Given the description of an element on the screen output the (x, y) to click on. 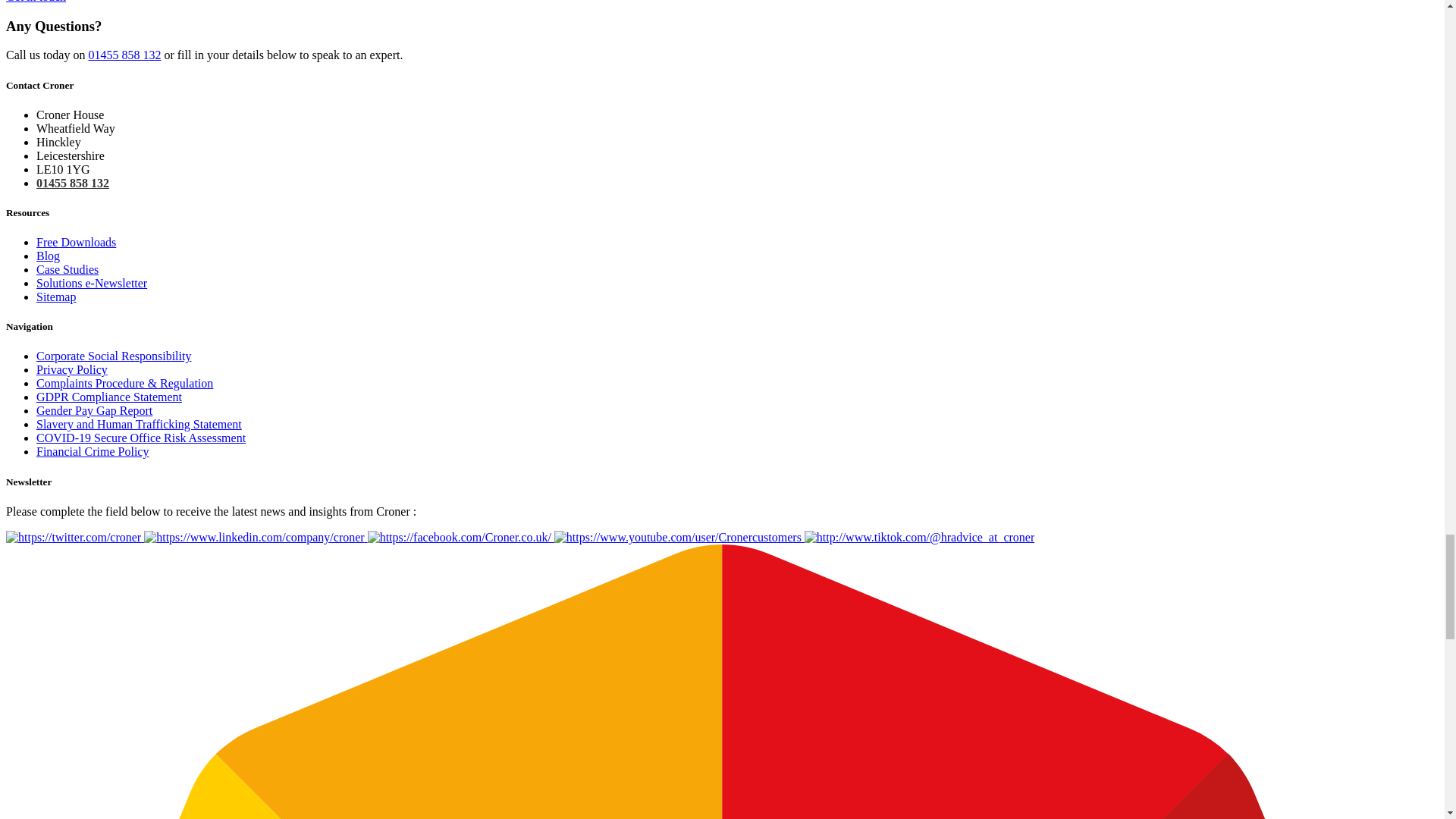
social icon  (679, 536)
social icon  (255, 536)
social icon  (461, 536)
social icon  (919, 536)
social icon  (74, 536)
